Given the description of an element on the screen output the (x, y) to click on. 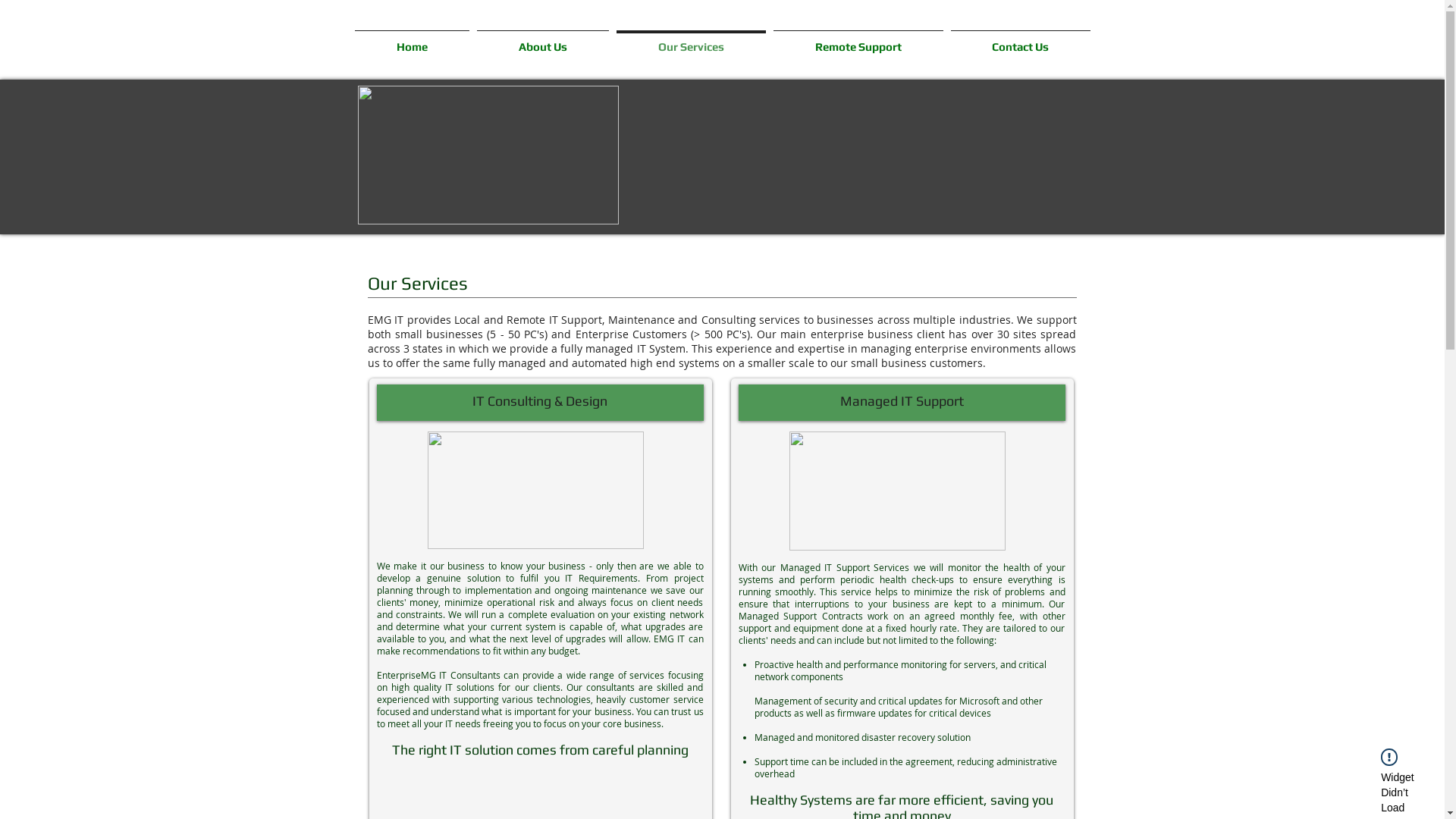
Remote Support Element type: text (857, 39)
Manged IT SUpport Element type: hover (896, 490)
IT Consulting & Design Element type: hover (535, 490)
EMG IT Logo_RGB REVERSE.png Element type: hover (487, 154)
Contact Us Element type: text (1019, 39)
Home Element type: text (411, 39)
About Us Element type: text (542, 39)
Our Services Element type: text (690, 39)
